Given the description of an element on the screen output the (x, y) to click on. 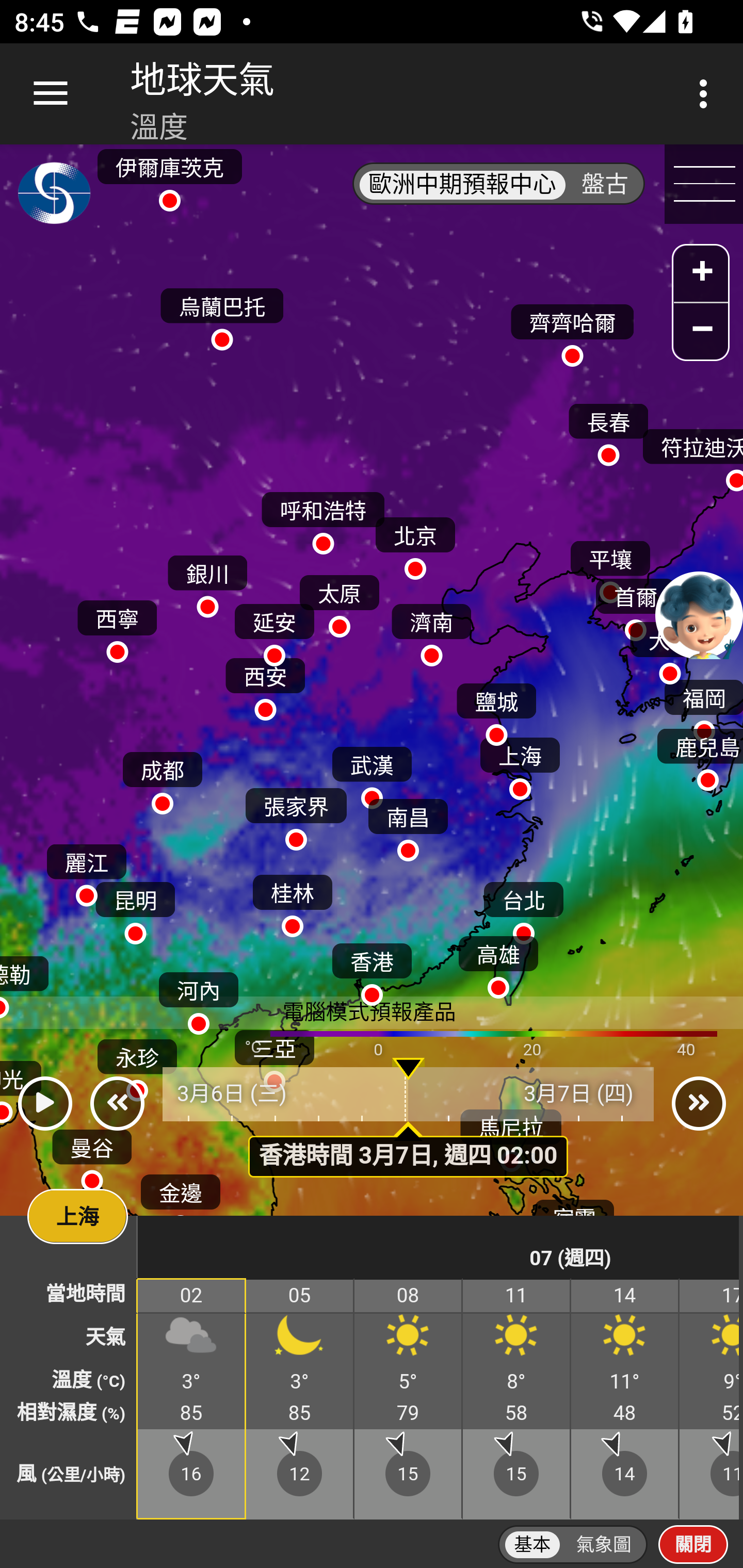
向上瀏覽 (50, 93)
更多選項 (706, 93)
香港天文台 (54, 197)
菜單按鈕 (703, 184)
伊爾庫茨克 (169, 174)
歐洲中期預報中心 (461, 184)
盤古 (604, 184)
Zoom in (700, 275)
烏蘭巴托 (222, 314)
齊齊哈爾 (572, 330)
Zoom out (700, 331)
長春 (608, 429)
符拉迪沃斯托克 (691, 456)
呼和浩特 (323, 518)
北京 (414, 543)
平壤 (609, 567)
銀川 (207, 581)
聊天機械人 (699, 614)
太原 (338, 600)
首爾 (634, 604)
西寧 (117, 625)
延安 (273, 629)
濟南 (431, 629)
西安 (264, 683)
福岡 (702, 705)
鹽城 (495, 709)
鹿兒島 (699, 755)
上海 (519, 763)
武漢 (371, 772)
成都 (161, 778)
張家界 (295, 815)
南昌 (407, 825)
麗江 (85, 870)
桂林 (292, 901)
昆明 (134, 908)
台北 (523, 908)
高雄 (497, 962)
香港 (371, 970)
河內 (197, 998)
三亞 (273, 1055)
永珍 (136, 1066)
3月6日 (三) 3月7日 (四) (408, 1094)
 (44, 1103)
上一時段 (117, 1103)
下一時段 (699, 1103)
曼谷 (91, 1155)
金邊 (180, 1199)
當地時間 02 時 (192, 1295)
當地時間 05 時 (300, 1295)
當地時間 08 時 (408, 1295)
當地時間 11 時 (517, 1295)
當地時間 14 時 (625, 1295)
天氣 天陰 (192, 1338)
天氣 天色良好 (300, 1338)
天氣 天晴 (408, 1338)
天氣 天晴 (517, 1338)
天氣 天晴 (625, 1338)
天氣 天晴 (709, 1338)
溫度 5 度 (136, 1381)
溫度 3 度 (192, 1381)
溫度 3 度 (300, 1381)
溫度 5 度 (408, 1381)
溫度 8 度 (517, 1381)
溫度 11 度 (625, 1381)
相對濕度 81% (136, 1413)
相對濕度 85% (192, 1413)
相對濕度 85% (300, 1413)
相對濕度 79% (408, 1413)
相對濕度 58% (517, 1413)
相對濕度 48% (625, 1413)
風 每小時 16公里 (北) (192, 1473)
風 每小時 12公里 (北) (300, 1473)
風 每小時 15公里 (北) (408, 1473)
風 每小時 15公里 (北) (517, 1473)
風 每小時 14公里 (北) (625, 1473)
風 每小時 11公里 (北) (709, 1473)
關閉 (693, 1544)
基本 (532, 1545)
氣象圖 (603, 1545)
